Given the description of an element on the screen output the (x, y) to click on. 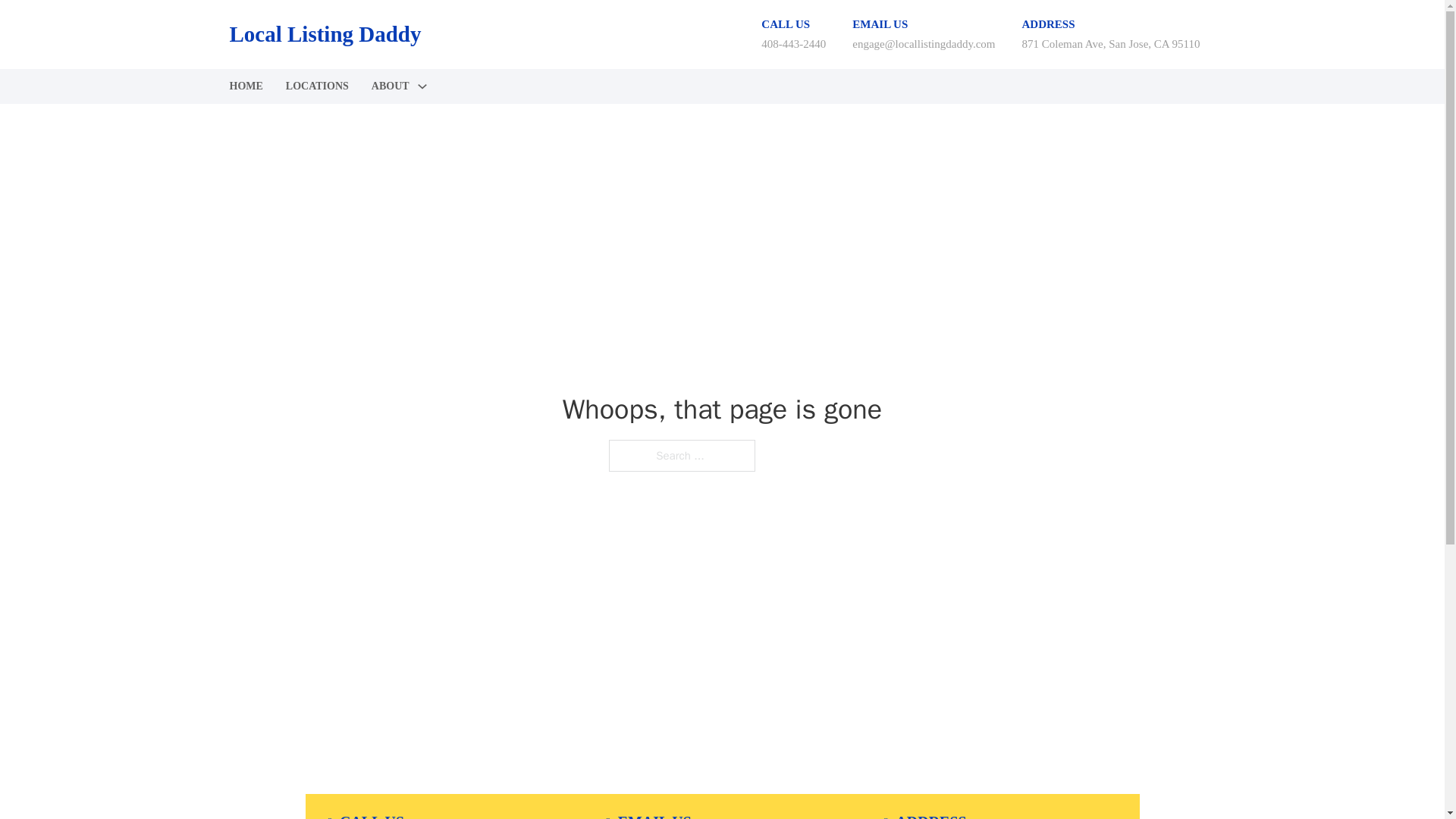
LOCATIONS (317, 85)
HOME (245, 85)
Local Listing Daddy (324, 34)
408-443-2440 (793, 43)
